Given the description of an element on the screen output the (x, y) to click on. 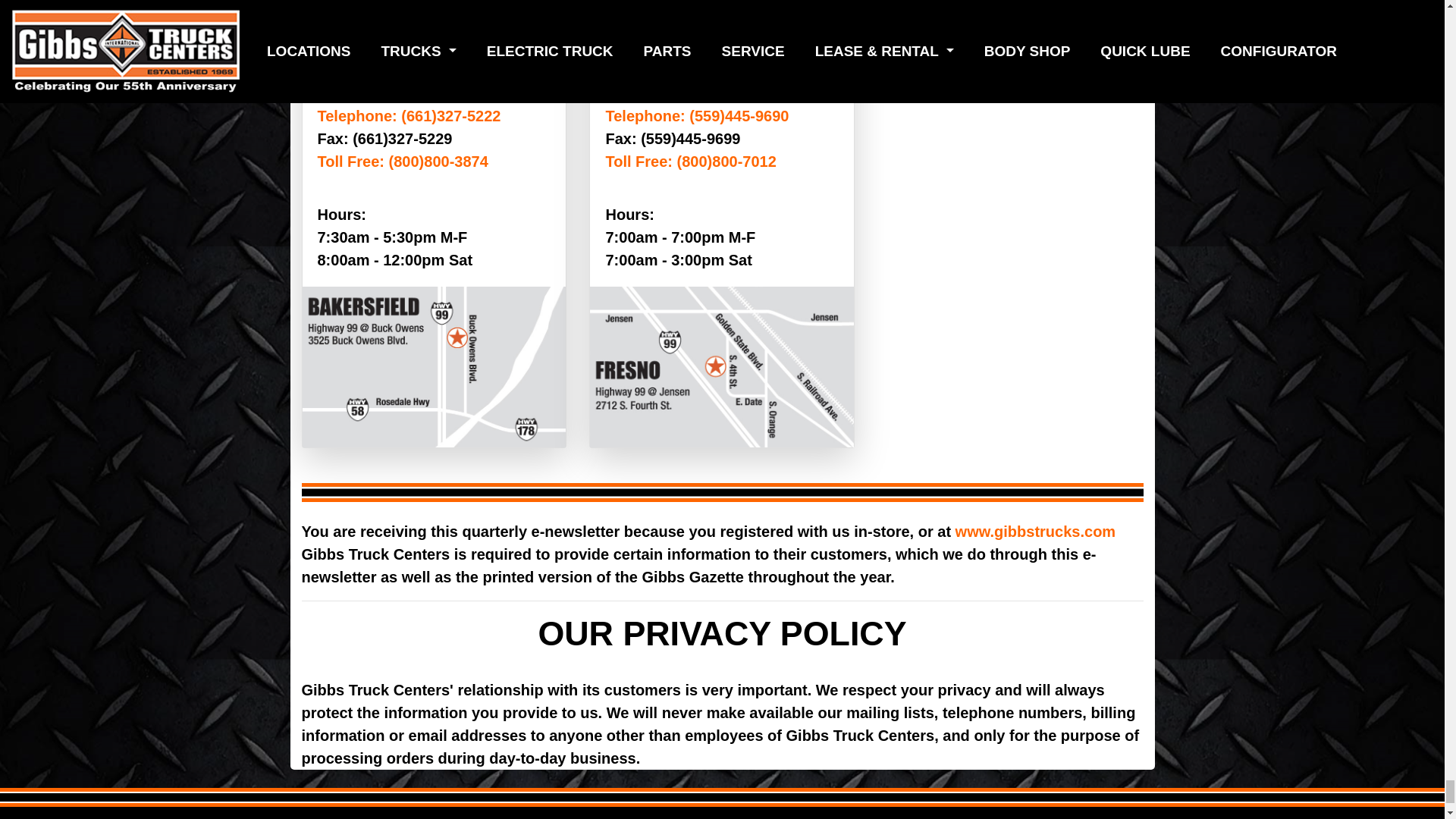
Hwy 99 at Jensen Avenue (697, 62)
Hwy 99 at Buck Owens Blvd. (419, 62)
